Given the description of an element on the screen output the (x, y) to click on. 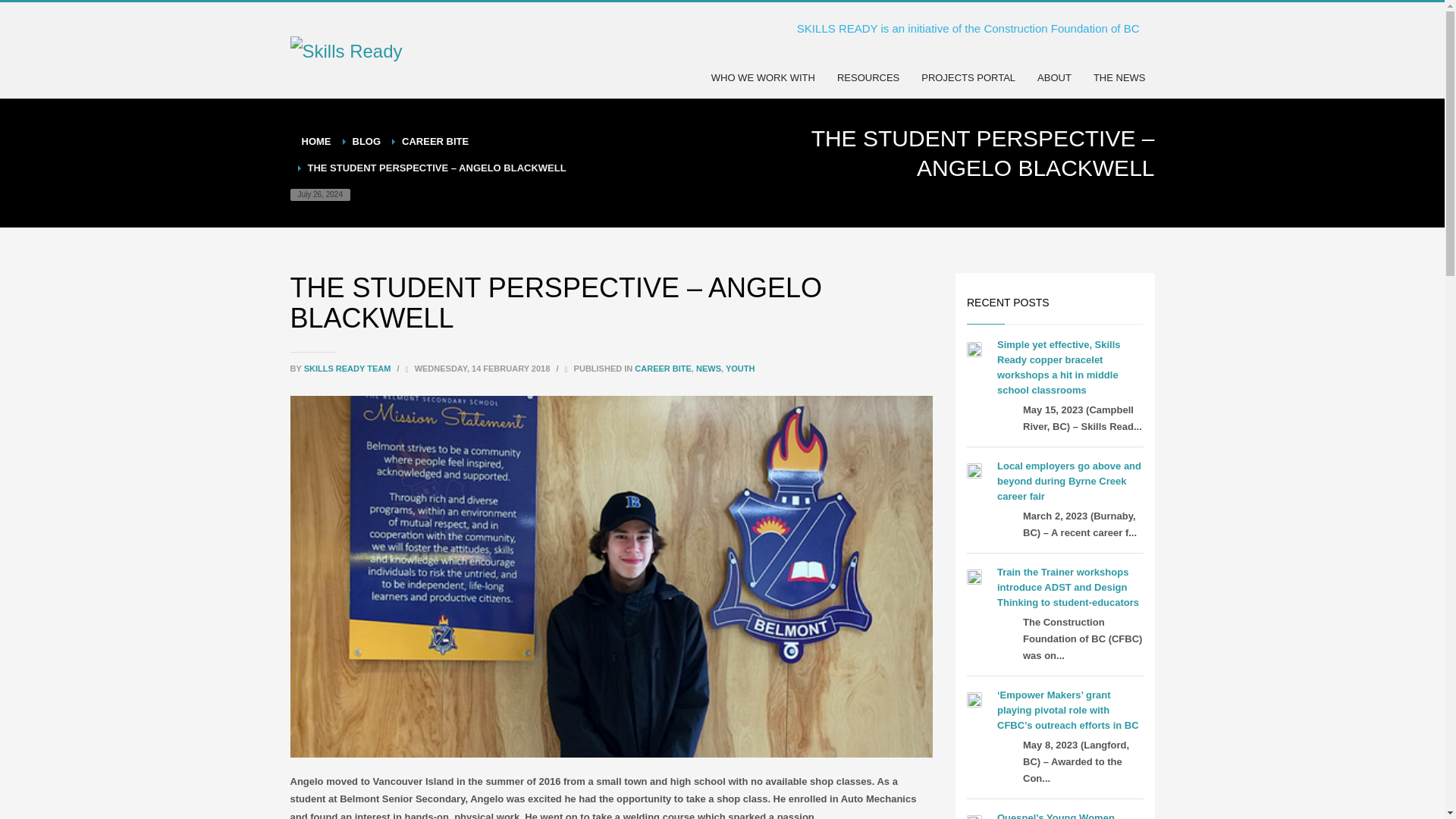
BLOG (366, 141)
WHO WE WORK WITH (762, 77)
CAREER BITE (434, 141)
CAREER BITE (662, 368)
HOME (316, 141)
YOUTH (740, 368)
ABOUT (1053, 77)
PROJECTS PORTAL (968, 77)
RESOURCES (868, 77)
